Given the description of an element on the screen output the (x, y) to click on. 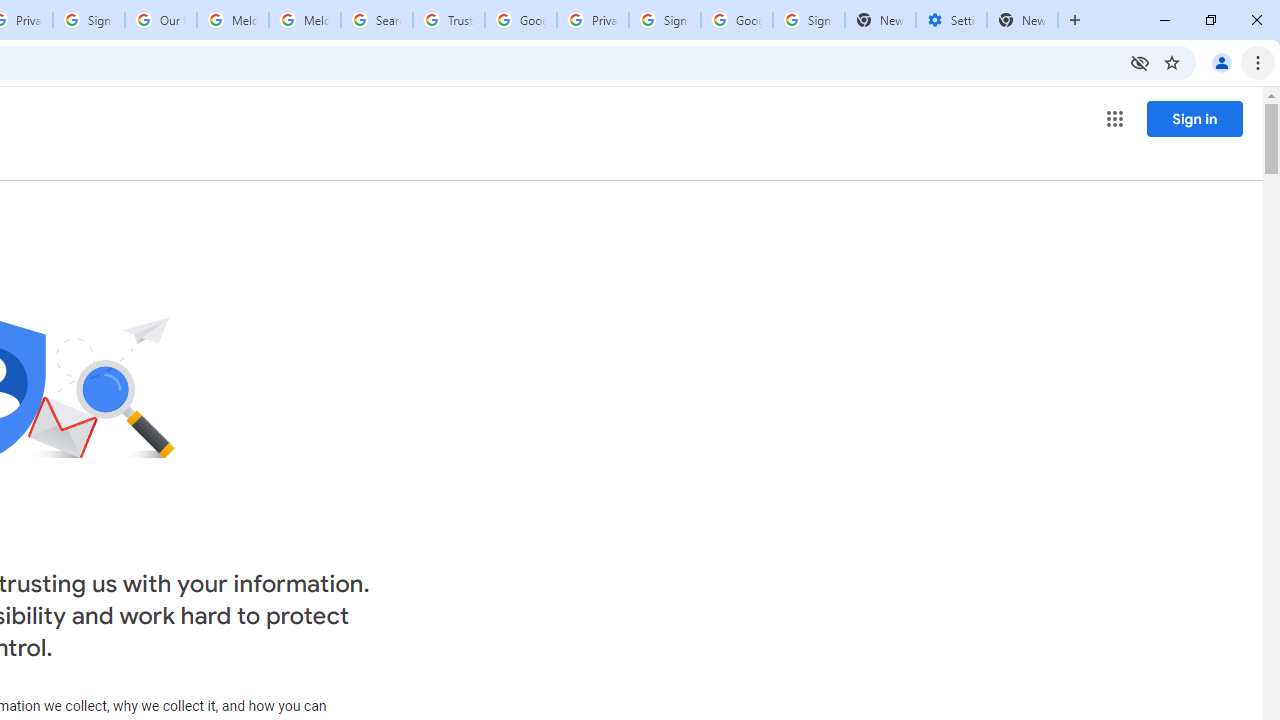
Settings - Addresses and more (951, 20)
Sign in - Google Accounts (88, 20)
New Tab (1022, 20)
Search our Doodle Library Collection - Google Doodles (376, 20)
Trusted Information and Content - Google Safety Center (449, 20)
